Given the description of an element on the screen output the (x, y) to click on. 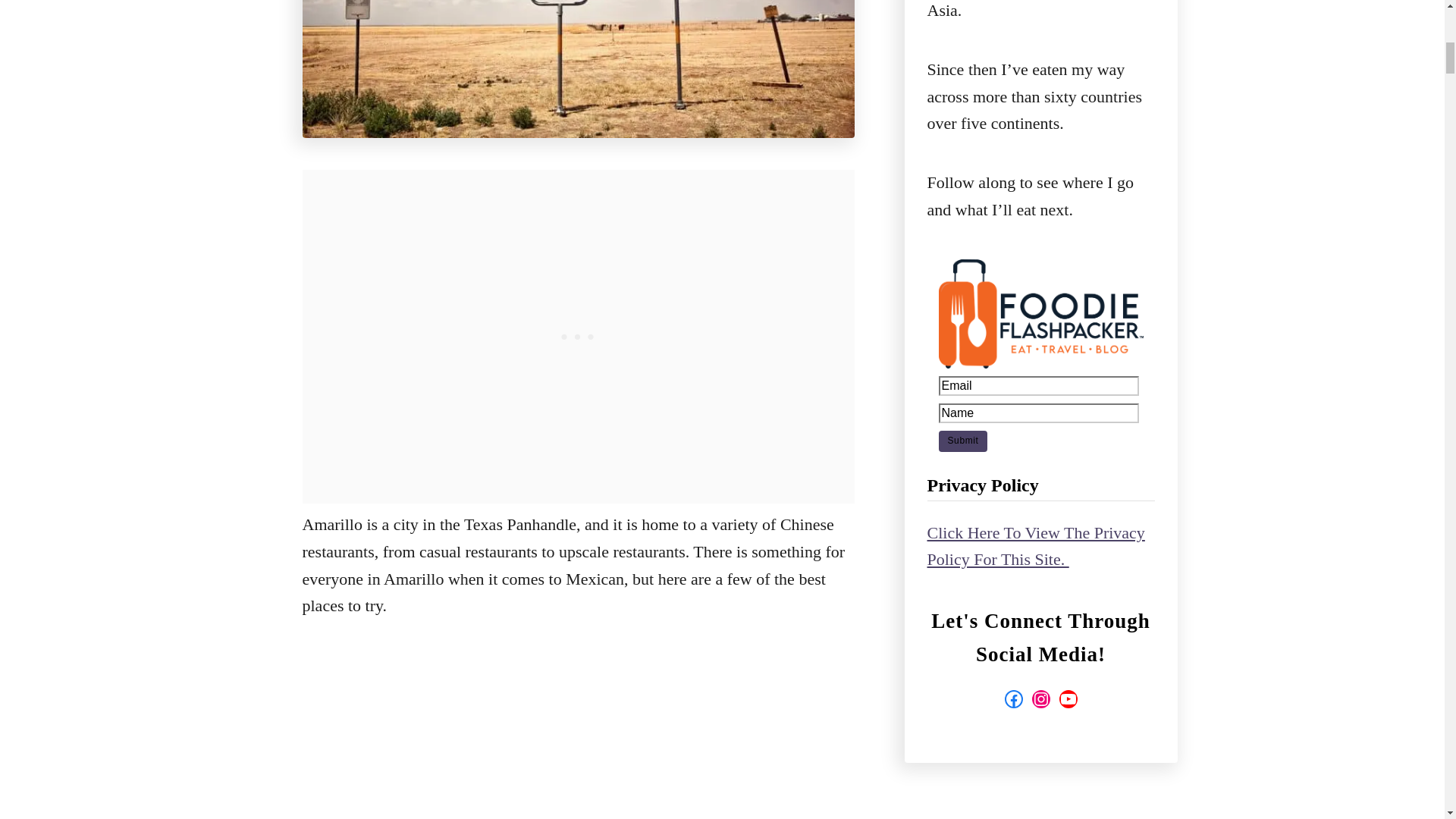
Name (1039, 413)
Email (1039, 385)
Submit (963, 441)
